Given the description of an element on the screen output the (x, y) to click on. 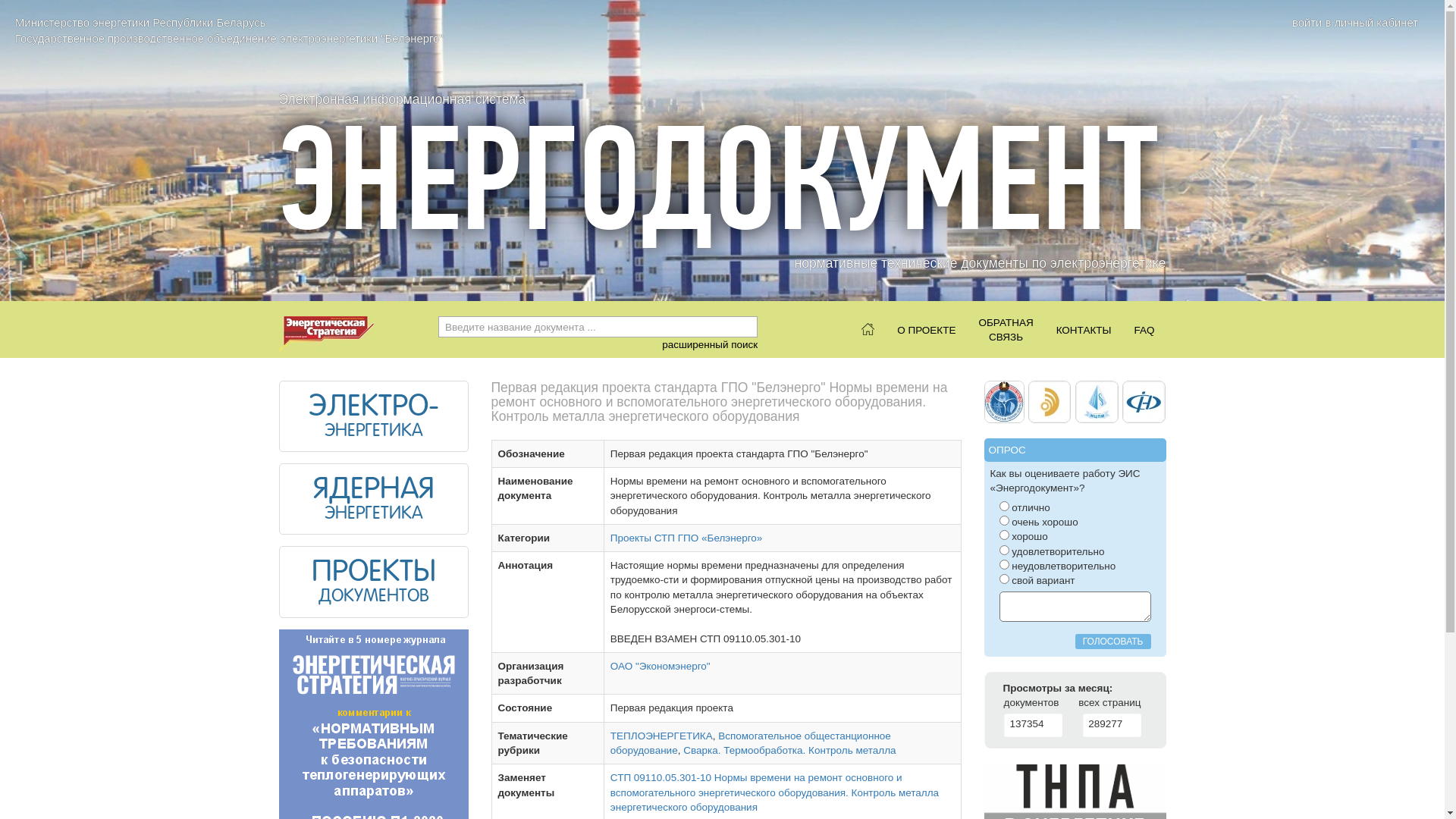
FAQ Element type: text (1143, 329)
